Given the description of an element on the screen output the (x, y) to click on. 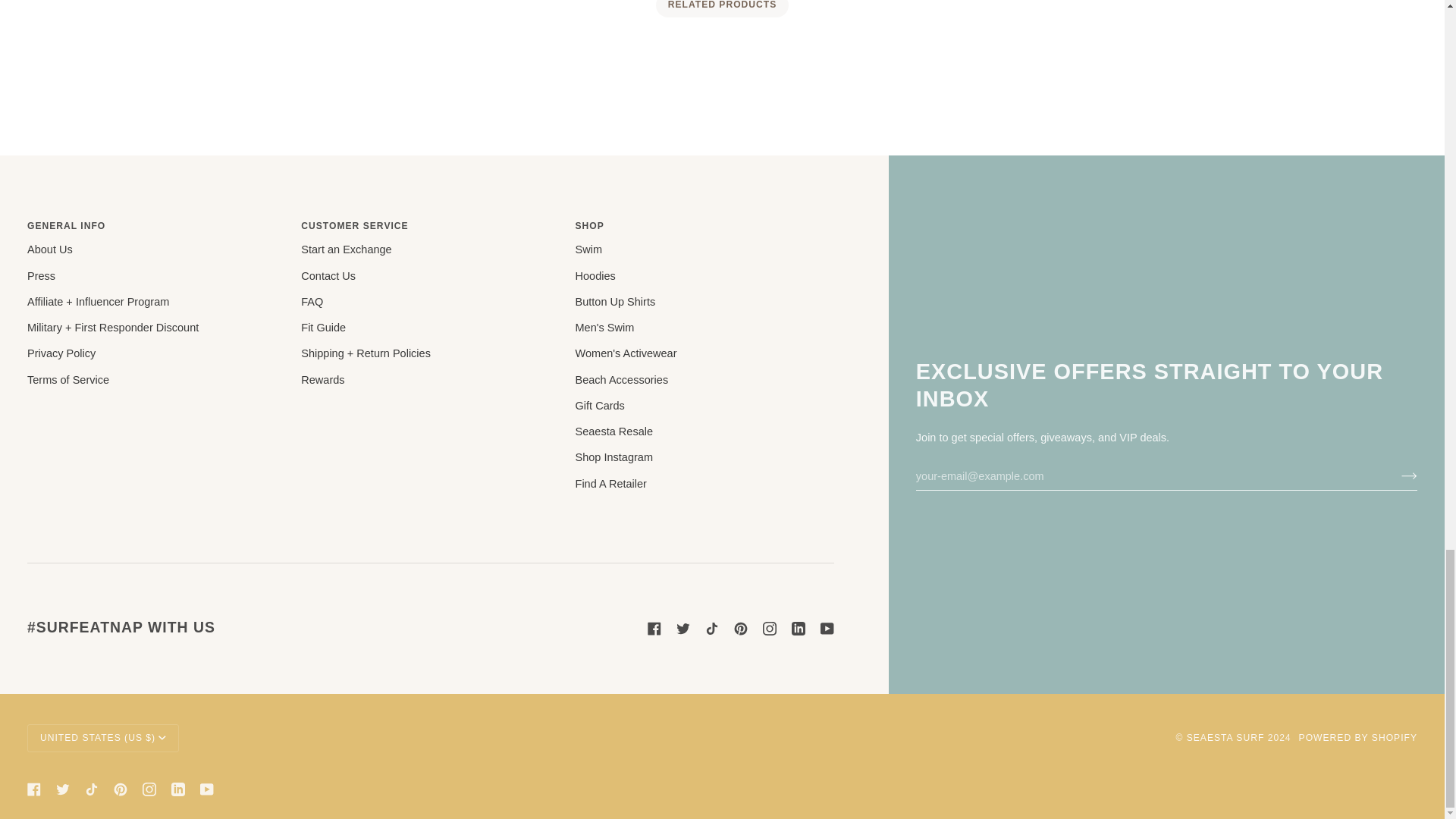
YouTube (207, 789)
Twitter (683, 628)
Facebook (33, 789)
Pinterest (120, 789)
YouTube (827, 628)
Instagram (769, 628)
Tiktok (711, 628)
Tiktok (91, 789)
Facebook (654, 628)
RELATED PRODUCTS (722, 8)
